Given the description of an element on the screen output the (x, y) to click on. 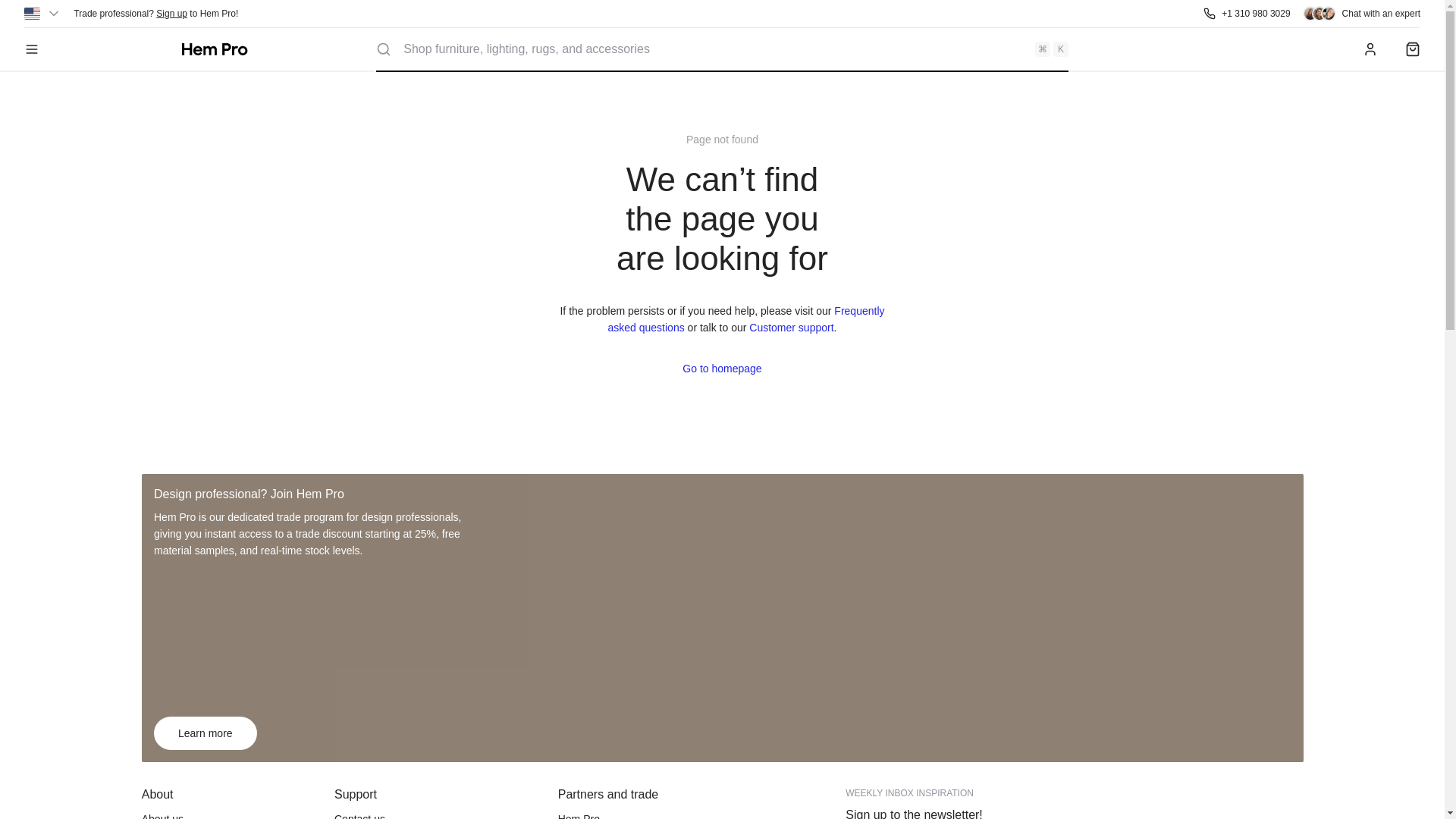
Go to homepage (721, 368)
About us (231, 814)
Contact us (440, 814)
Hem (214, 49)
Sign up (171, 13)
Frequently asked questions (746, 318)
Go to homepage (214, 49)
Customer support (790, 327)
Chat with an expert (1362, 13)
Shopping bag (1412, 48)
